Given the description of an element on the screen output the (x, y) to click on. 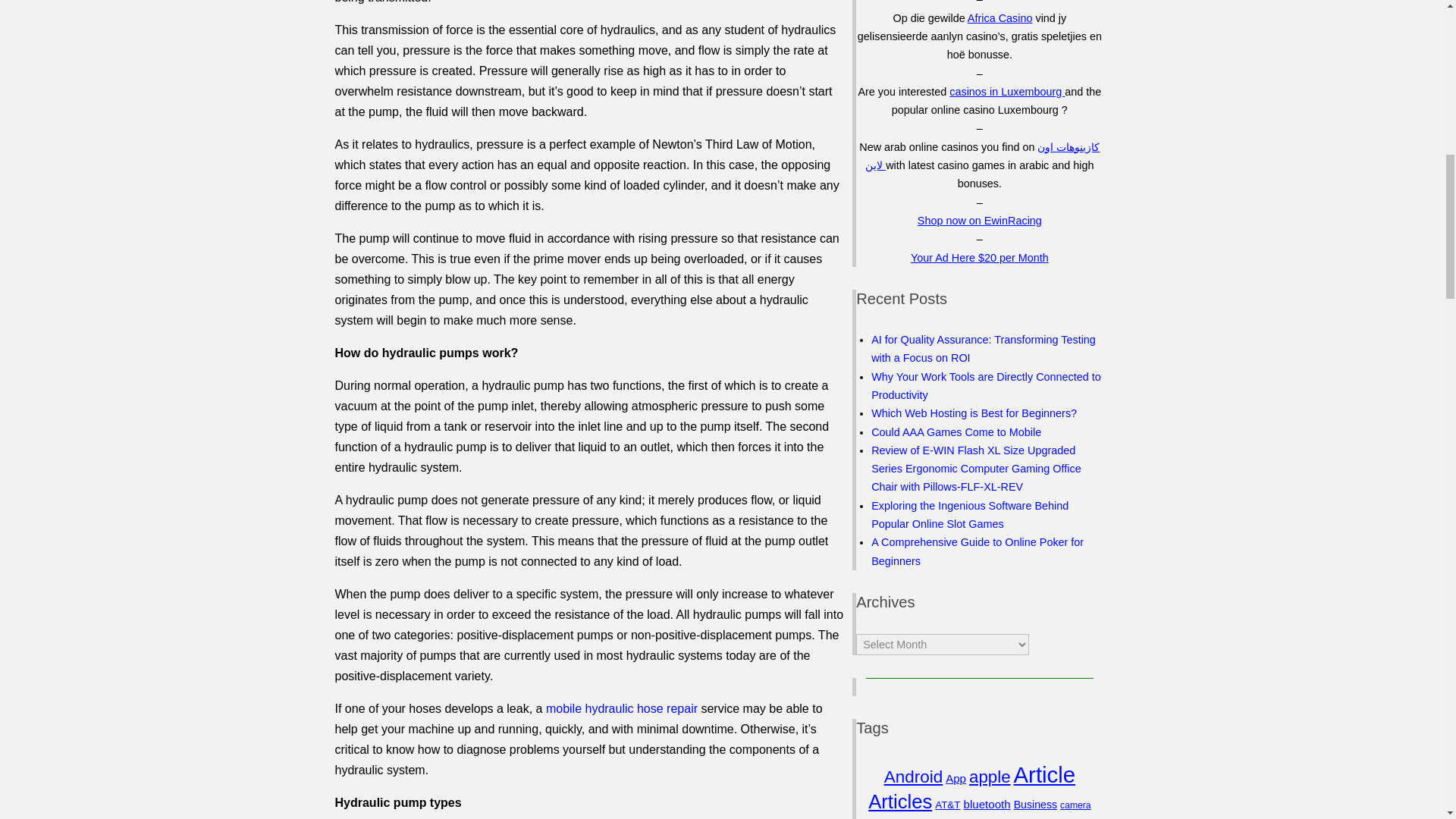
A Comprehensive Guide to Online Poker for Beginners (976, 551)
Africa casino (1000, 18)
mobile hydraulic hose repair (621, 707)
casinos in Luxembourg (1006, 91)
Could AAA Games Come to Mobile (955, 431)
Why Your Work Tools are Directly Connected to Productivity (985, 386)
Africa Casino (1000, 18)
casinos in Luxembourg (1006, 91)
Which Web Hosting is Best for Beginners? (973, 413)
Shop now on EwinRacing (979, 220)
